Given the description of an element on the screen output the (x, y) to click on. 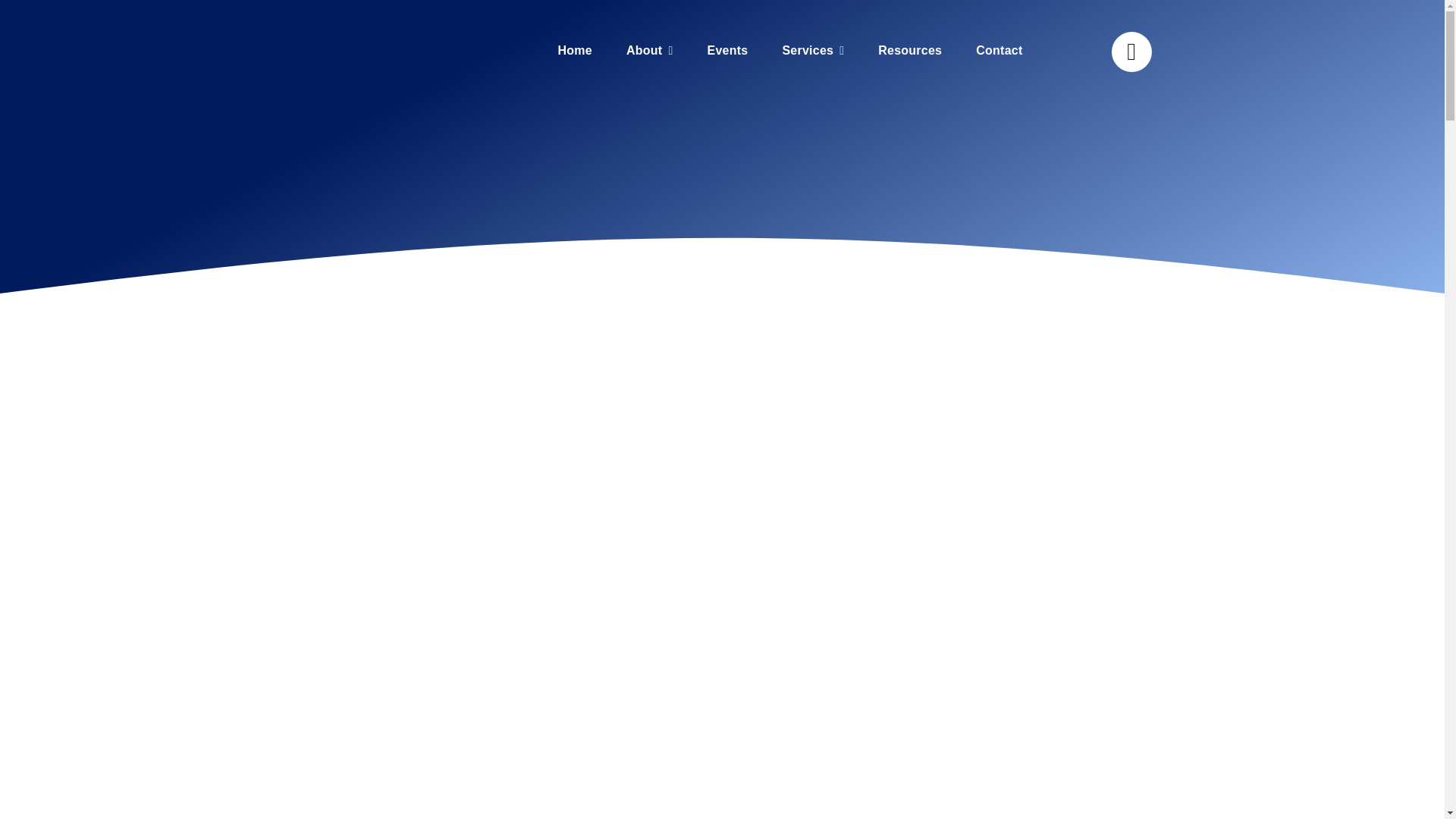
Home (574, 51)
Contact (998, 51)
Services (812, 51)
About (649, 51)
Resources (909, 51)
Events (727, 51)
